Given the description of an element on the screen output the (x, y) to click on. 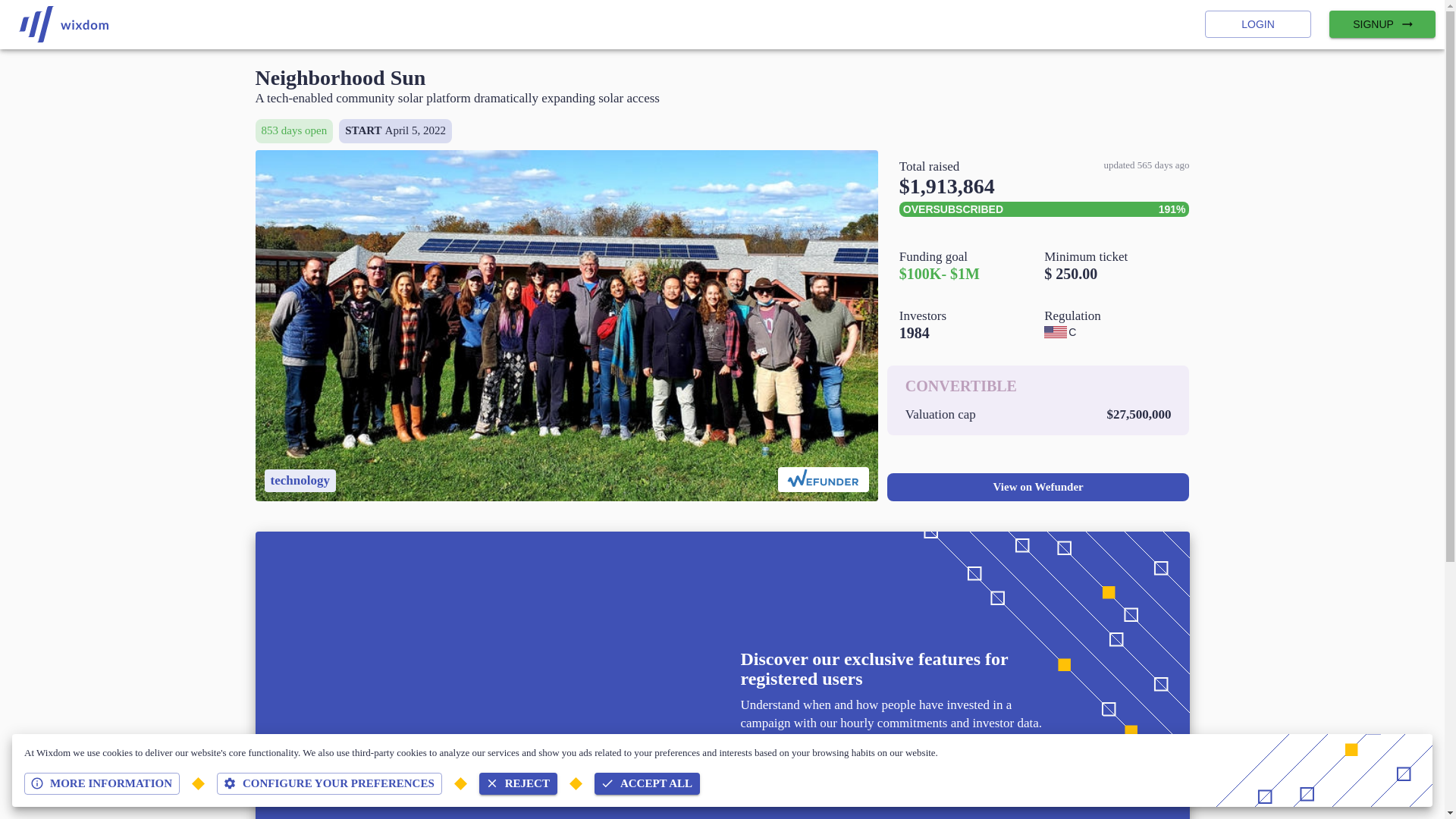
CONFIGURE YOUR PREFERENCES (329, 783)
ACCEPT ALL (647, 783)
LOGIN (1258, 24)
Discover more (795, 758)
MORE INFORMATION (101, 783)
SIGNUP (1382, 24)
View on Wefunder (1037, 485)
View on Wefunder (1037, 487)
REJECT (518, 783)
